Given the description of an element on the screen output the (x, y) to click on. 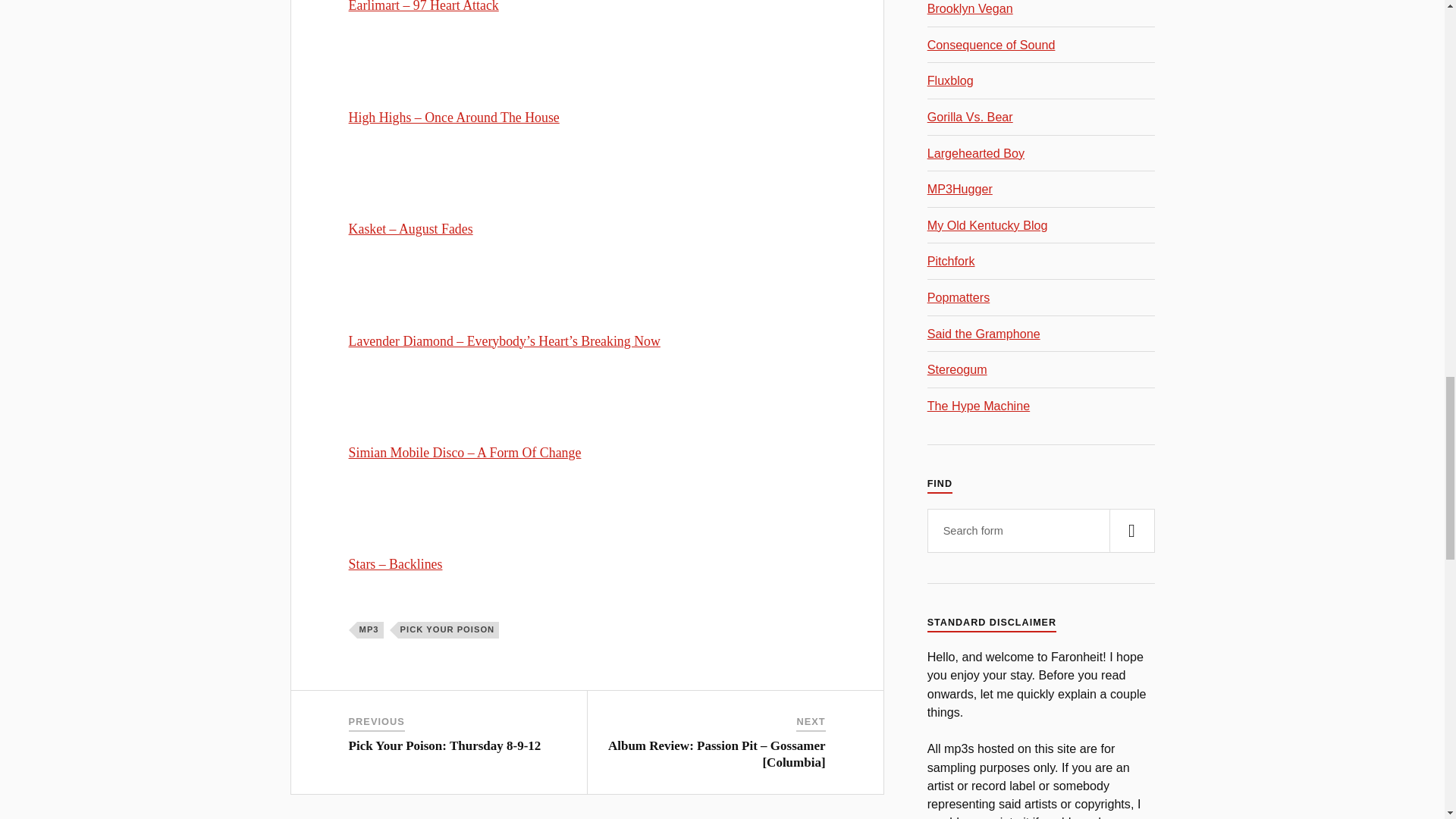
The first-ever music blog (950, 79)
Stream songs and check out music blogs (978, 405)
Pick Your Poison: Thursday 8-9-12 (445, 745)
My goal is to turn him into Brooklyn Meateater (970, 8)
Hugs first, mp3s after.  (959, 188)
PICK YOUR POISON (448, 629)
MP3 (370, 629)
Music news and festival rumors (991, 44)
Links and downloads galore (976, 152)
Chew on this (957, 368)
Pretentious much? (951, 260)
The bear would totally win (970, 116)
